Given the description of an element on the screen output the (x, y) to click on. 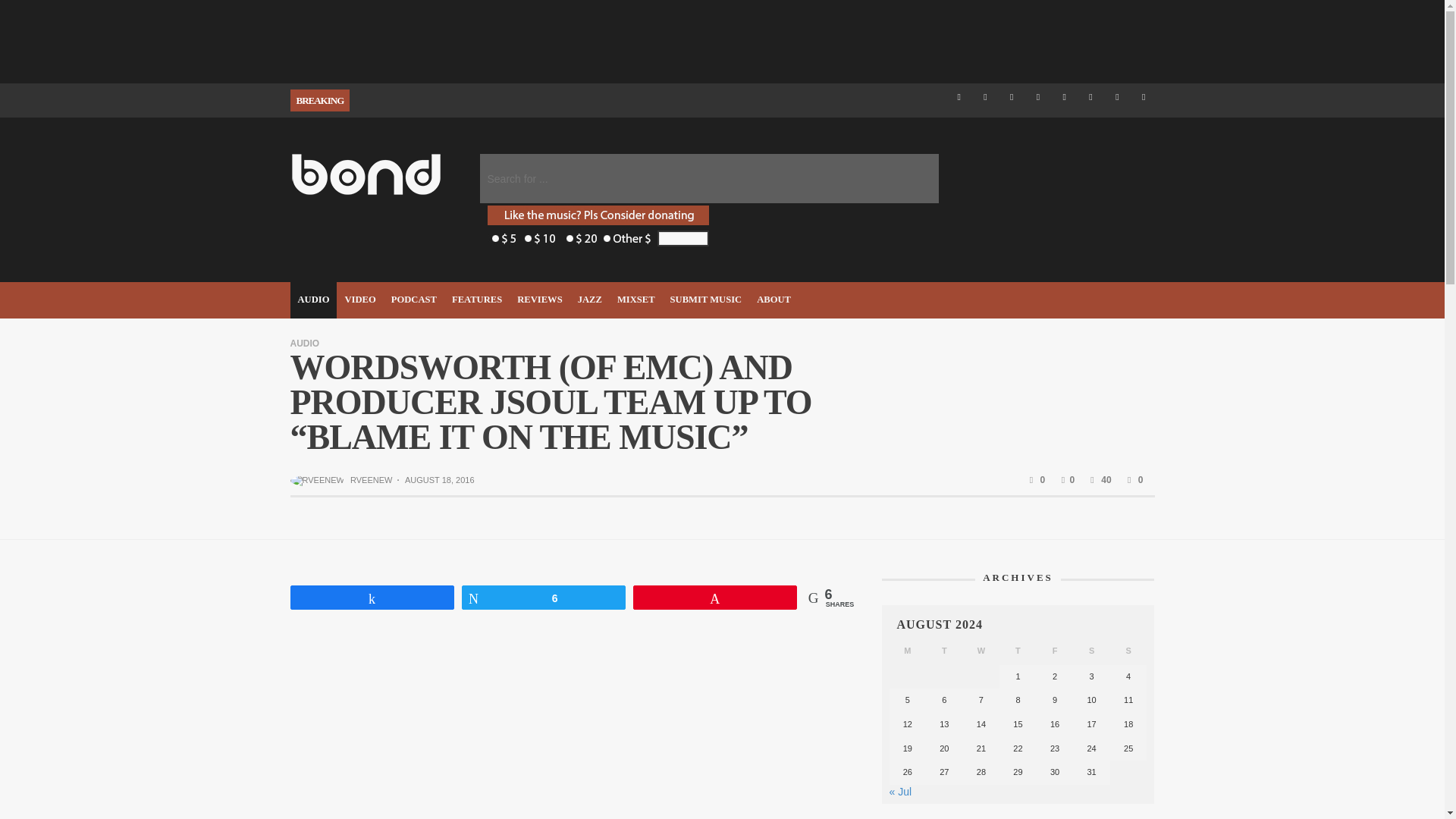
Facebook (958, 97)
LinkedIn (1038, 97)
AUDIO (312, 299)
VIDEO (359, 299)
Pinterest (1063, 97)
Youtube (1143, 97)
Twitter (1117, 97)
Instagram (1012, 97)
Tumblr (1091, 97)
